Given the description of an element on the screen output the (x, y) to click on. 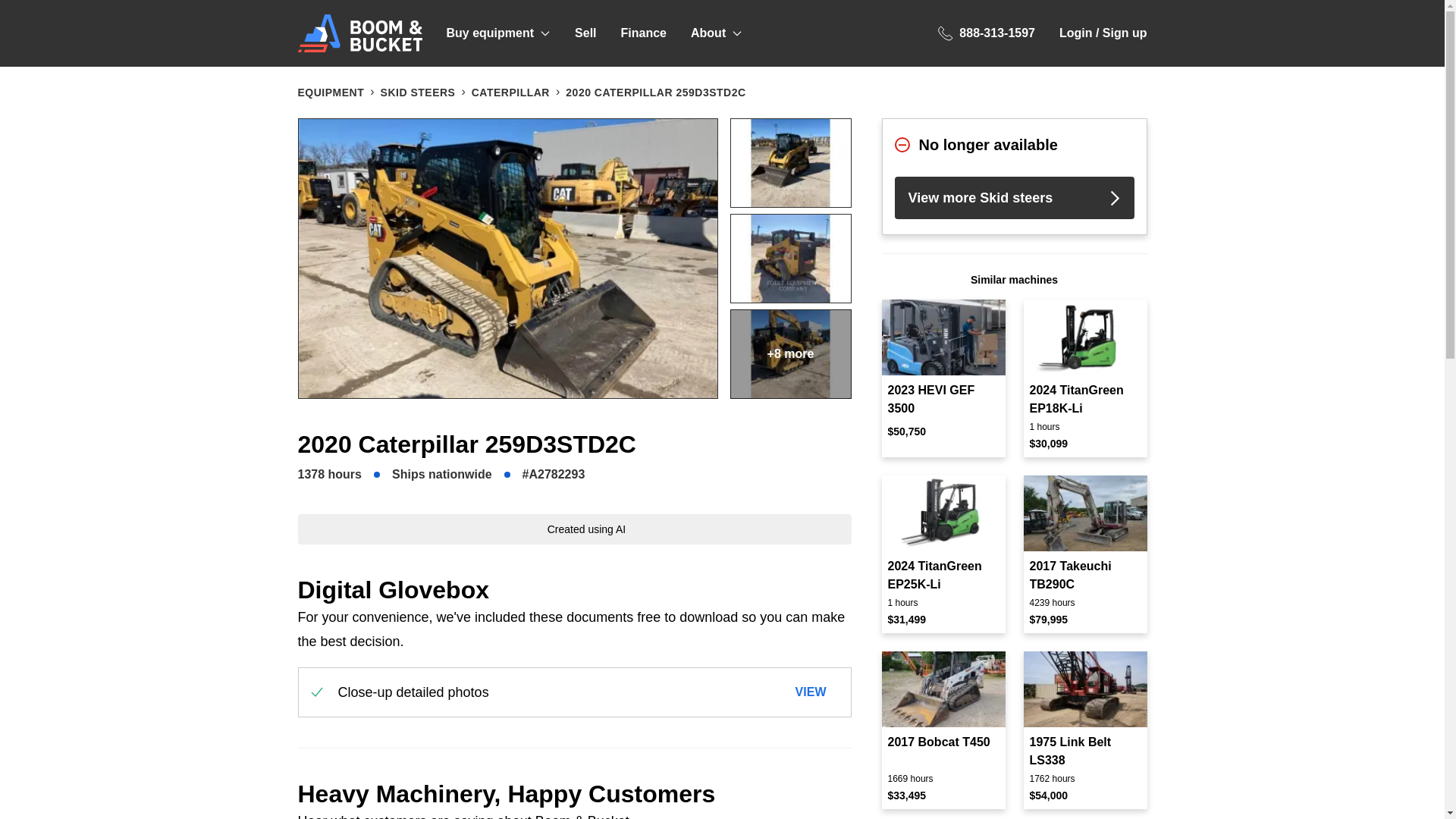
Buy equipment (497, 33)
